Given the description of an element on the screen output the (x, y) to click on. 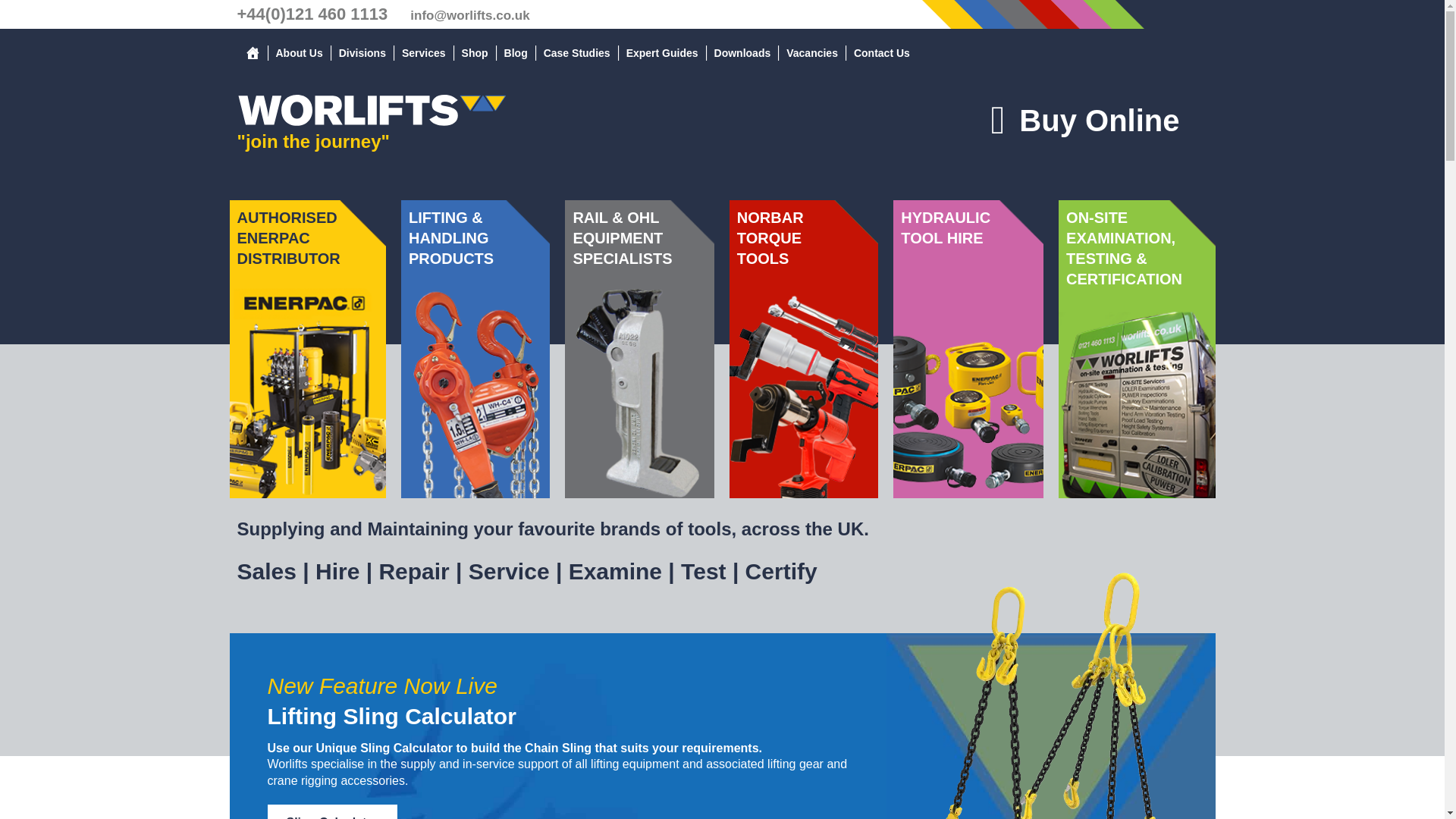
Worliftsslingsexamplesimagescalculator (1050, 723)
Buy Online (1084, 120)
About Us (298, 52)
Sling Calculator (331, 811)
Shop (475, 52)
Downloads (742, 52)
Worlifts Logo (370, 110)
Contact Us (881, 52)
Vacancies (811, 52)
Services (423, 52)
